Given the description of an element on the screen output the (x, y) to click on. 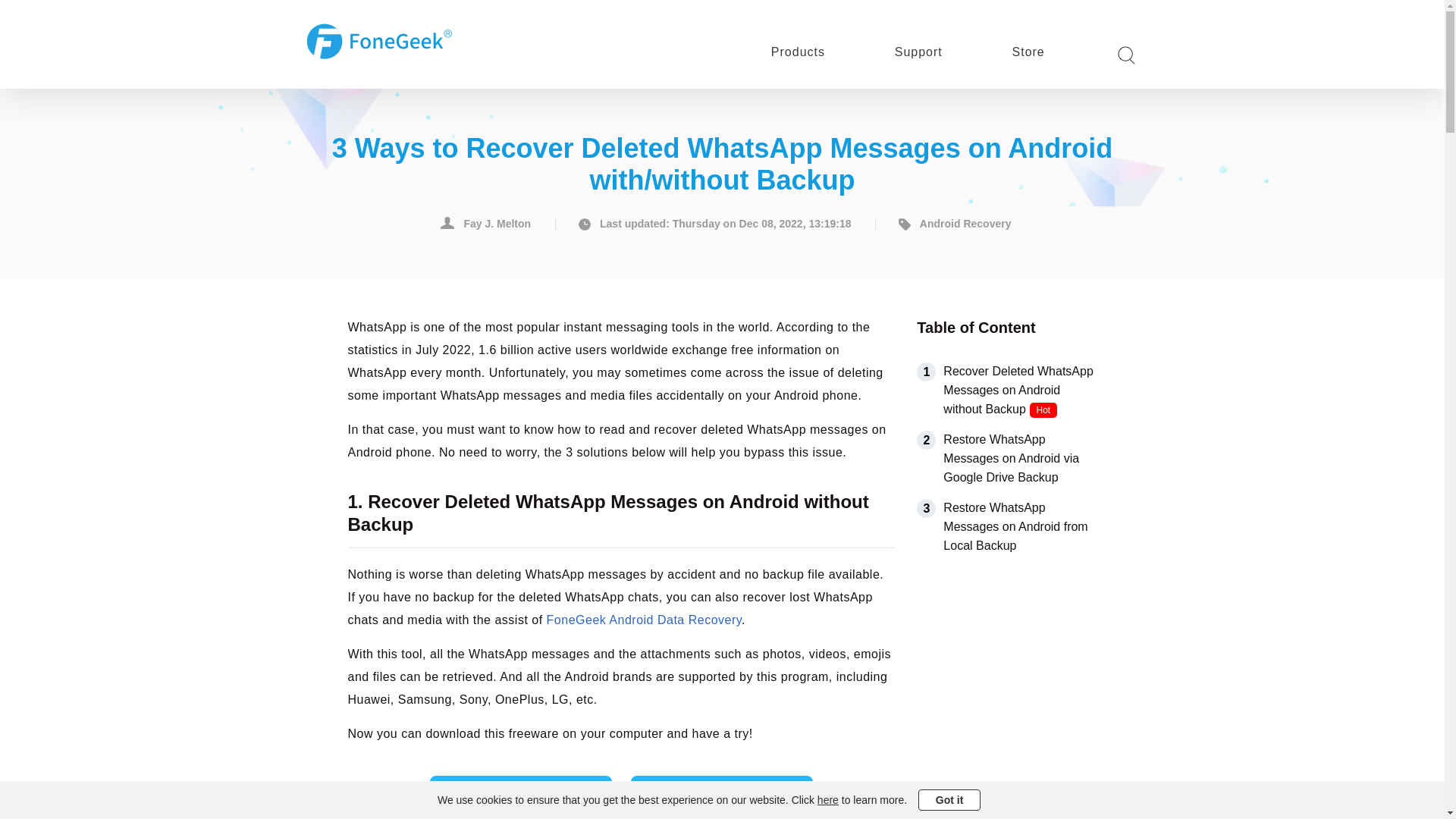
Android Recovery (951, 223)
Store (1028, 51)
Support (918, 51)
here (827, 799)
Products (798, 51)
FoneGeek Android Data Recovery (644, 619)
